Given the description of an element on the screen output the (x, y) to click on. 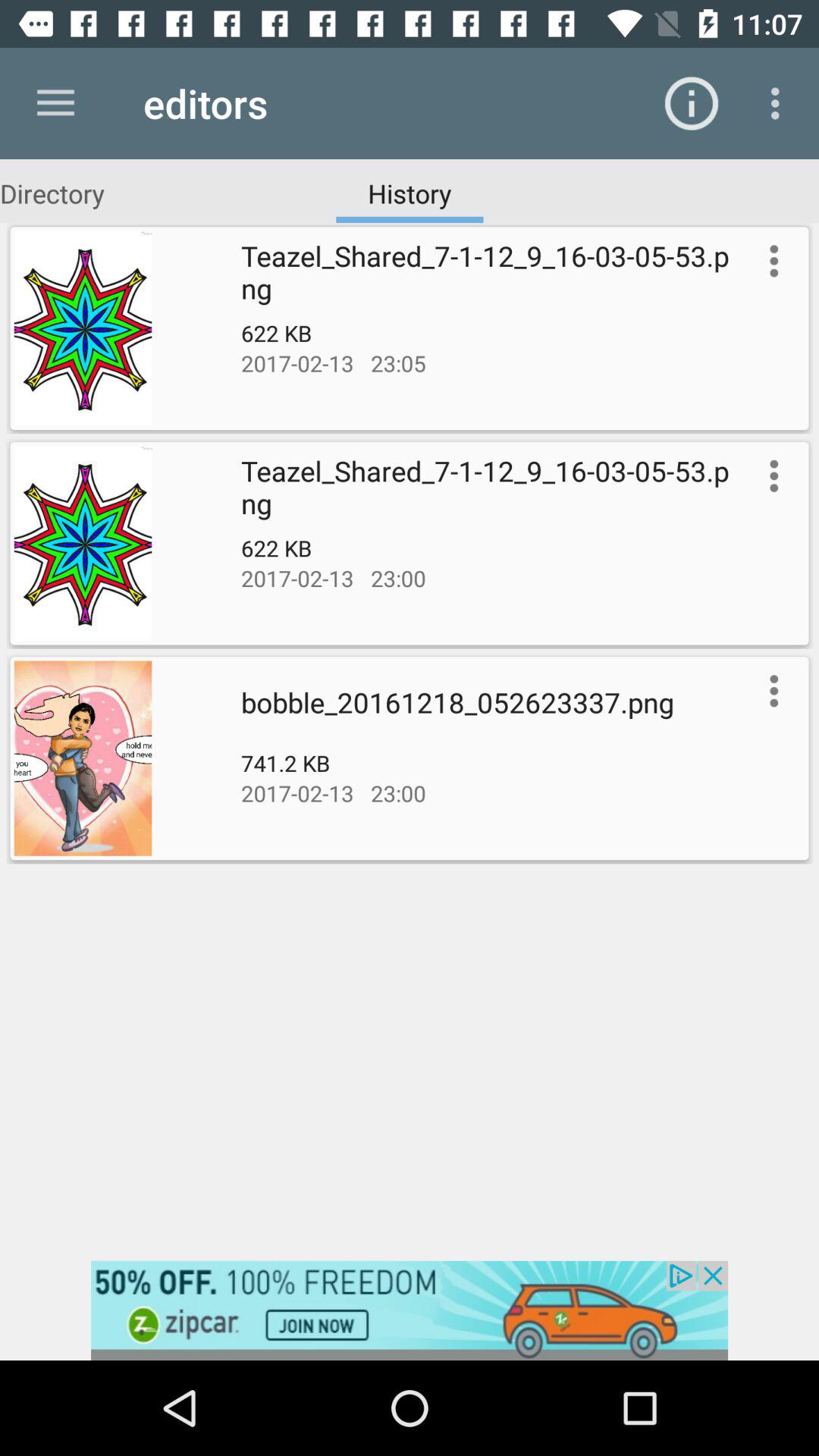
info button (770, 475)
